Given the description of an element on the screen output the (x, y) to click on. 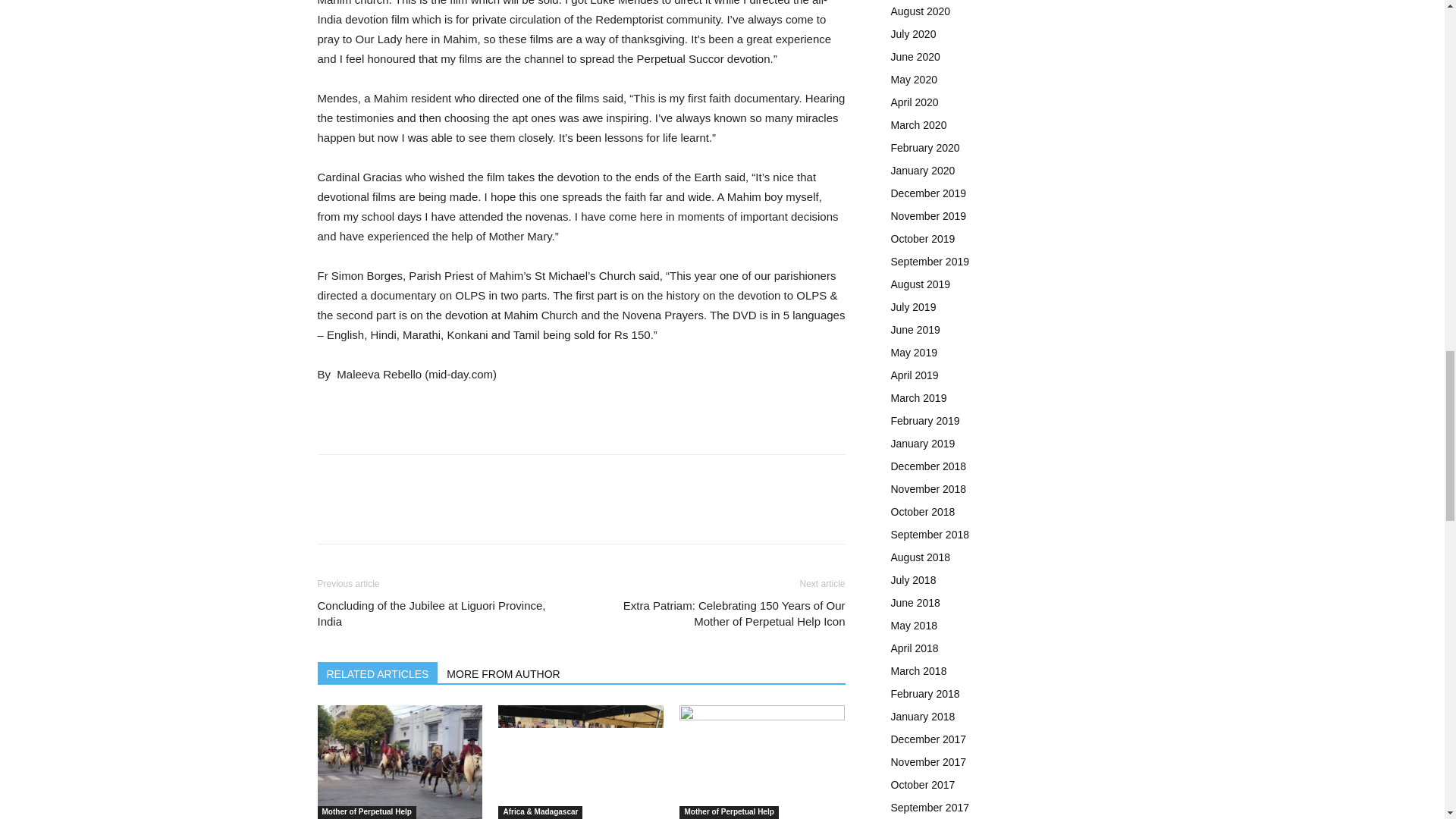
Feast of the Mother of Perpetual Help in Salta, Argentina (399, 762)
